Given the description of an element on the screen output the (x, y) to click on. 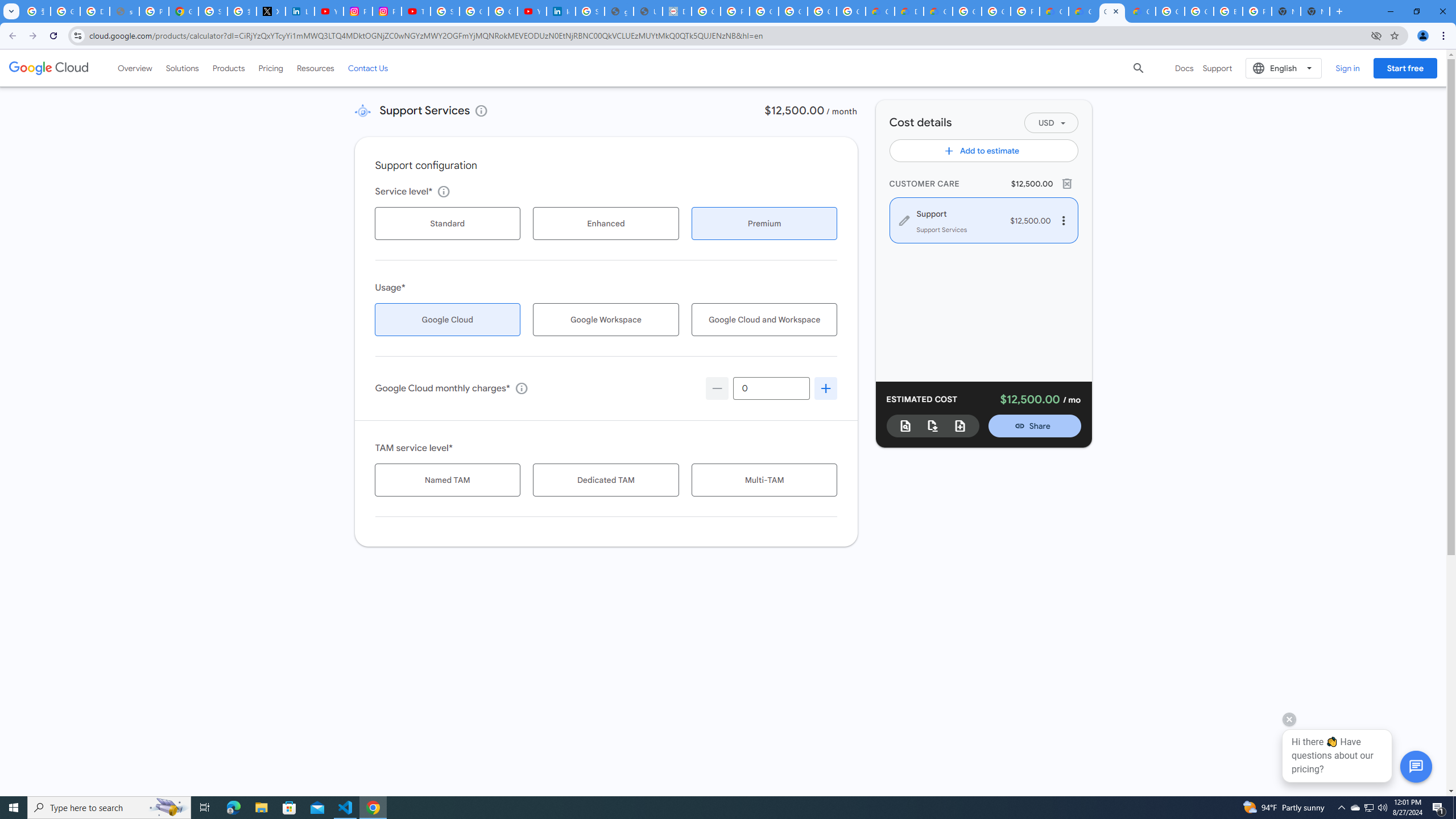
Google Cloud Platform (996, 11)
More options (1062, 219)
Google Cloud Service Health (1140, 11)
Google Cloud monthly charges* tooltip (770, 388)
Support Services (362, 110)
Resources (314, 67)
Rename Support (955, 213)
Products (228, 67)
Google Cloud Pricing Calculator (1082, 11)
tooltip (520, 387)
